Given the description of an element on the screen output the (x, y) to click on. 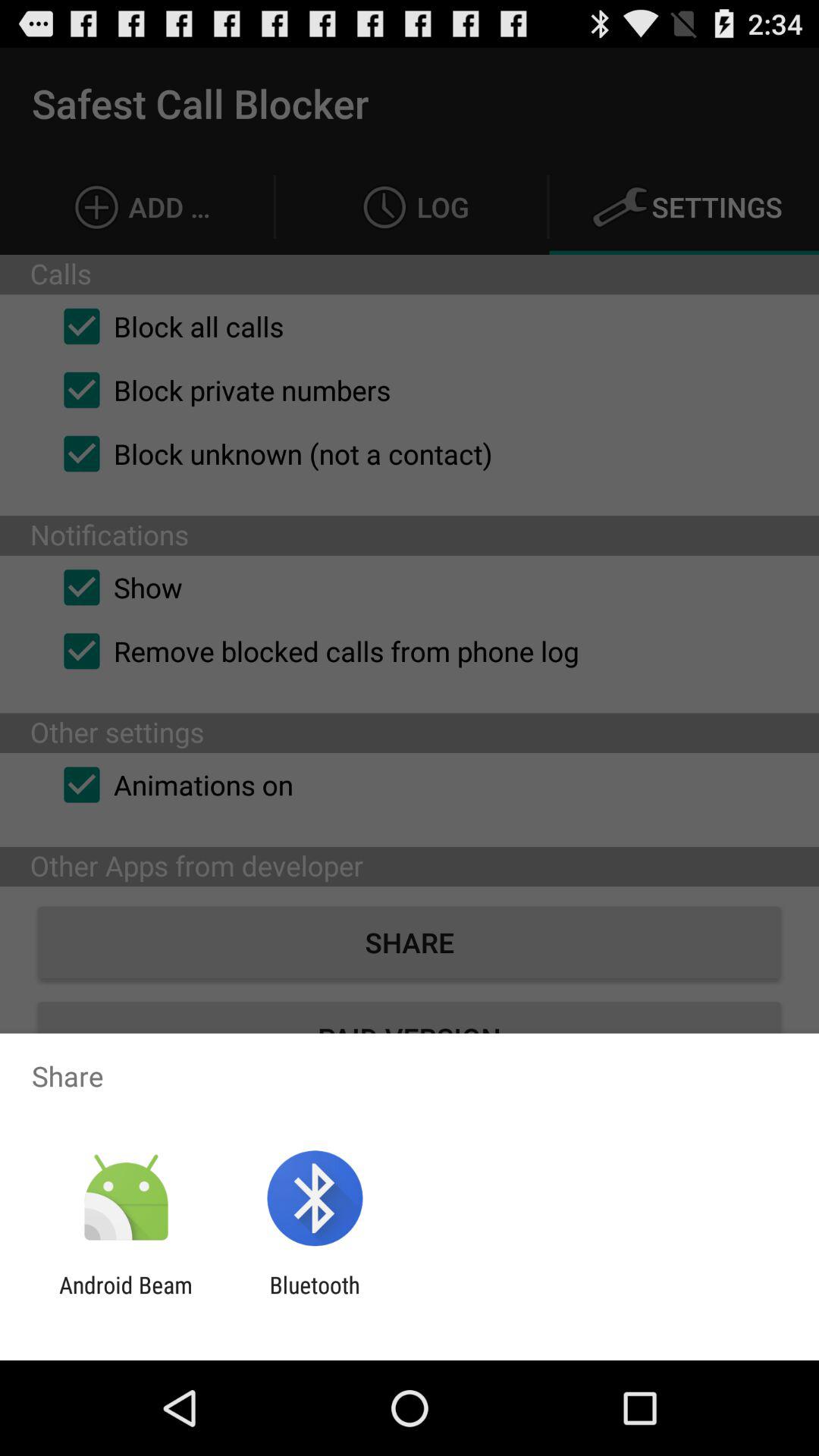
choose the bluetooth (314, 1298)
